Given the description of an element on the screen output the (x, y) to click on. 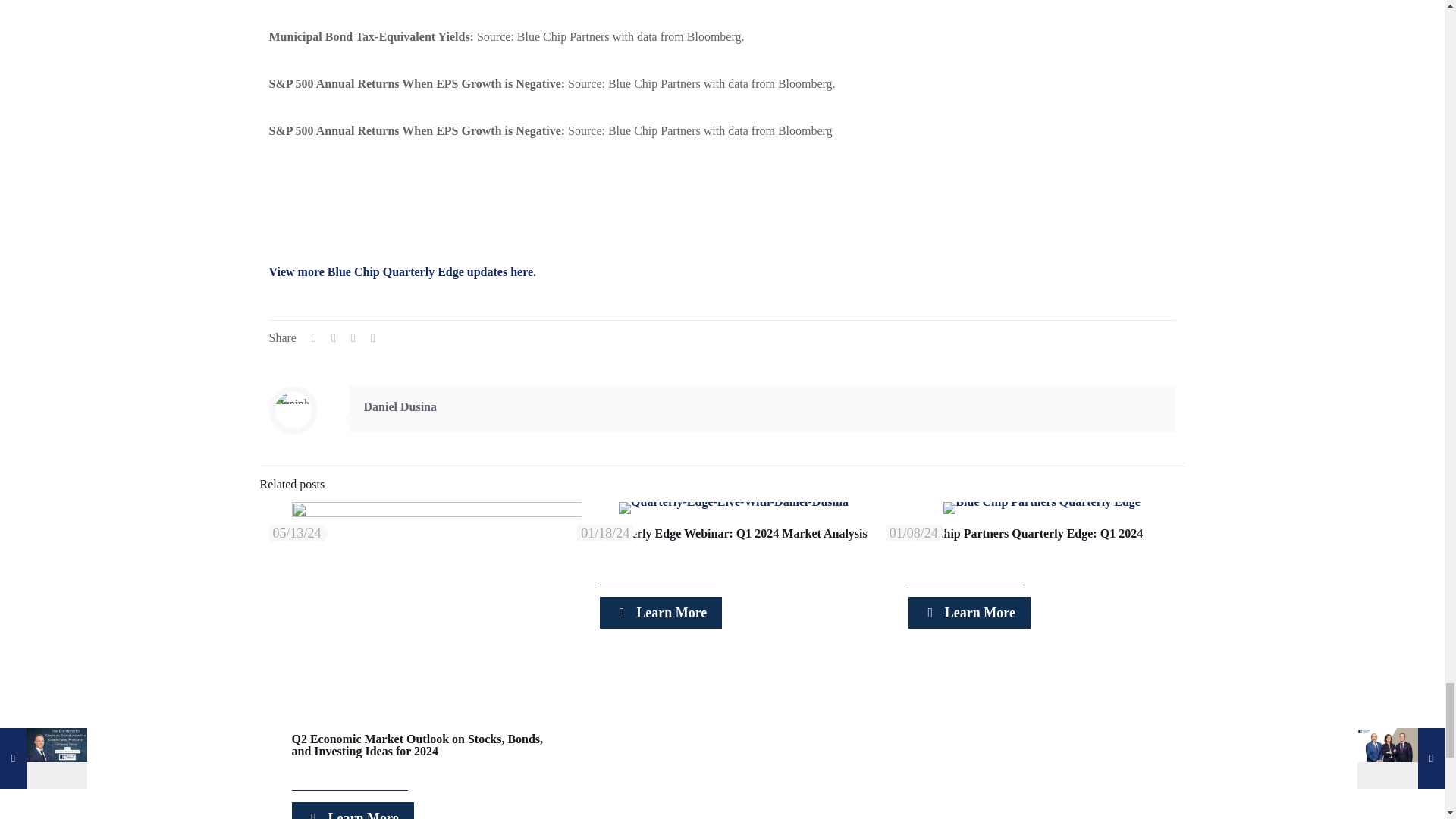
View more Blue Chip Quarterly Edge updates here. (401, 271)
